Given the description of an element on the screen output the (x, y) to click on. 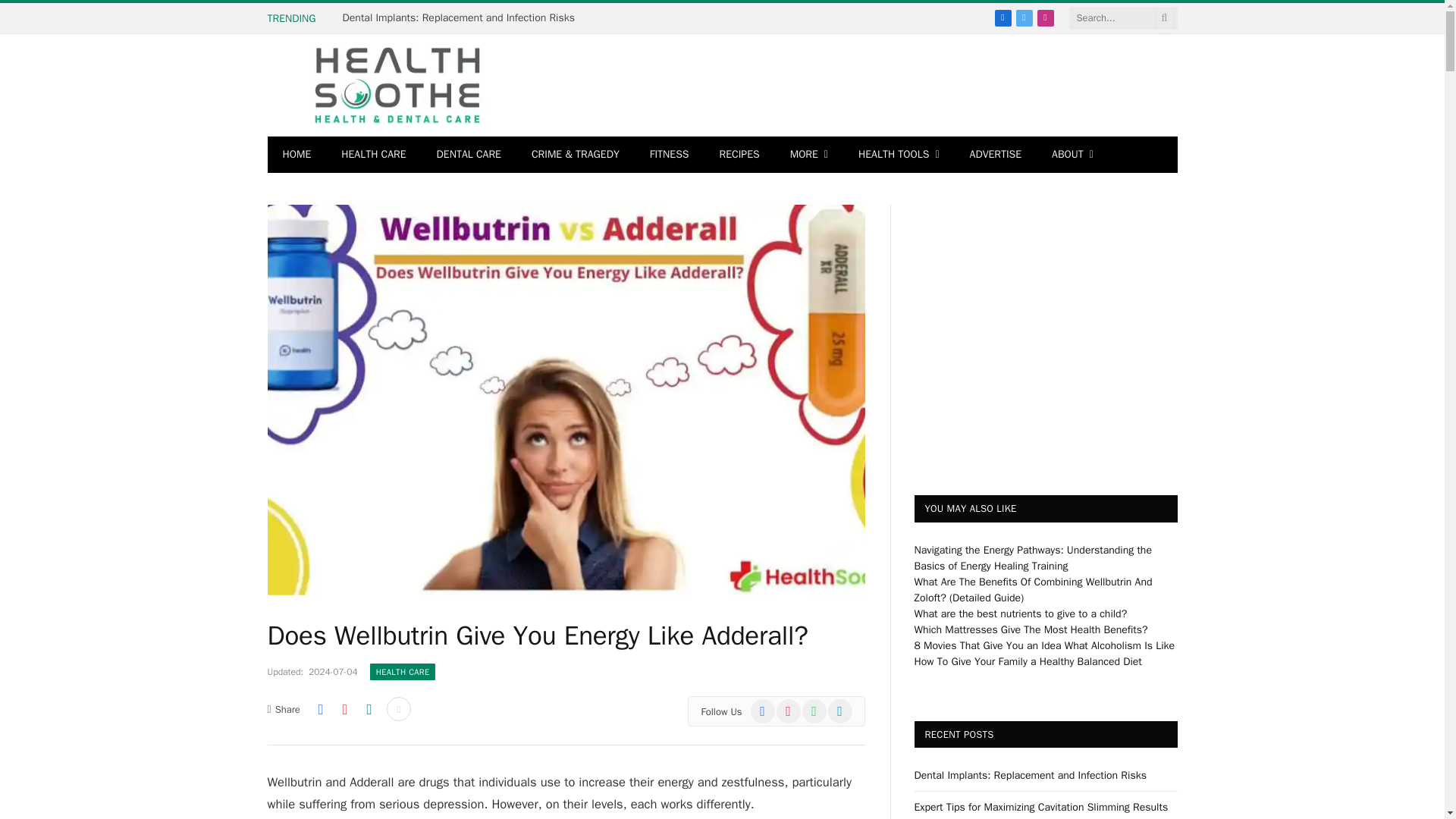
Dental Implants: Replacement and Infection Risks (462, 18)
Share on Pinterest (344, 708)
Show More Social Sharing (398, 708)
Share on LinkedIn (369, 708)
Healthsoothe: Health And Dental Care (396, 85)
Facebook (1002, 17)
Share on Facebook (319, 708)
